Given the description of an element on the screen output the (x, y) to click on. 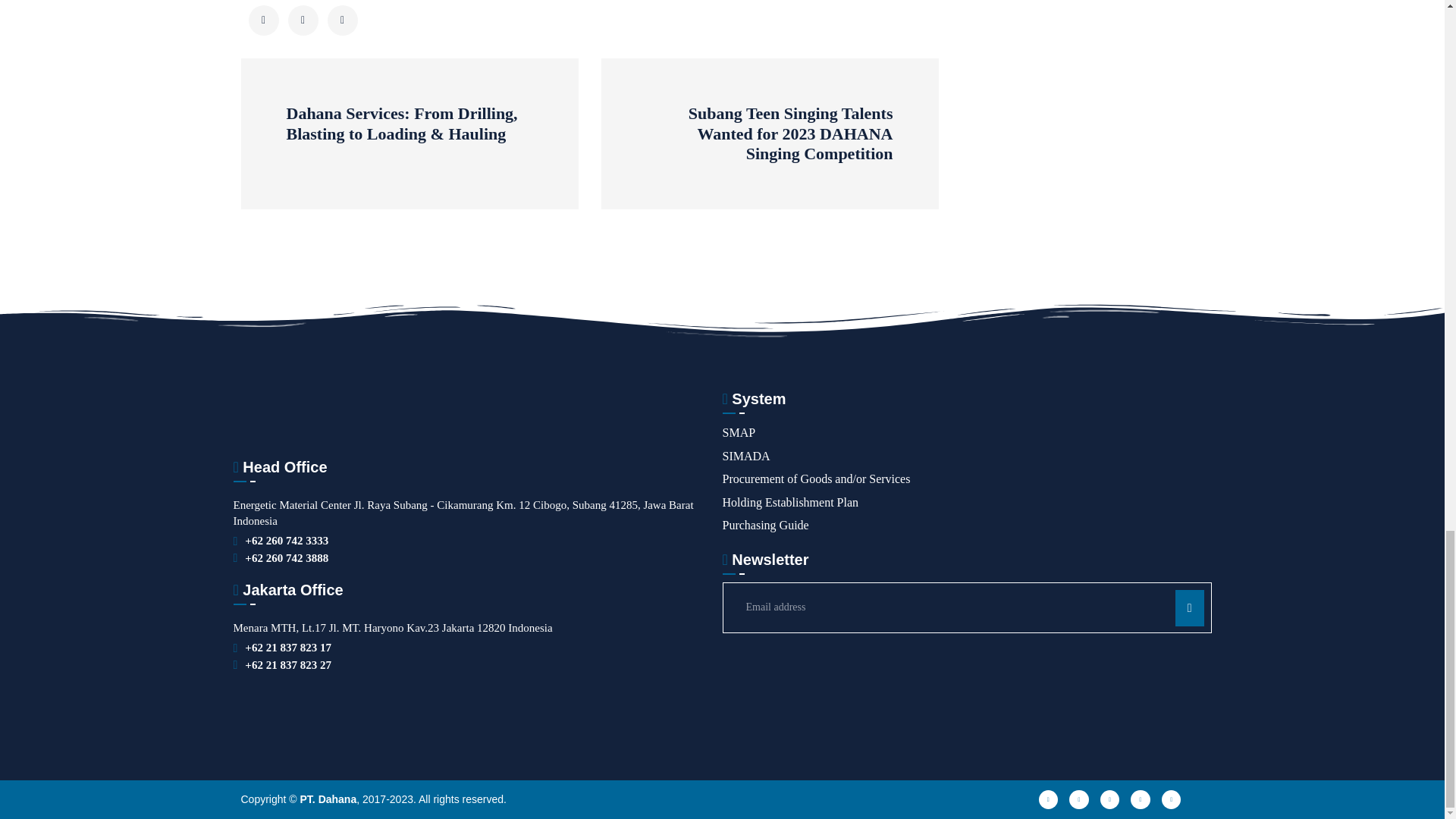
address (287, 647)
address (286, 540)
